Given the description of an element on the screen output the (x, y) to click on. 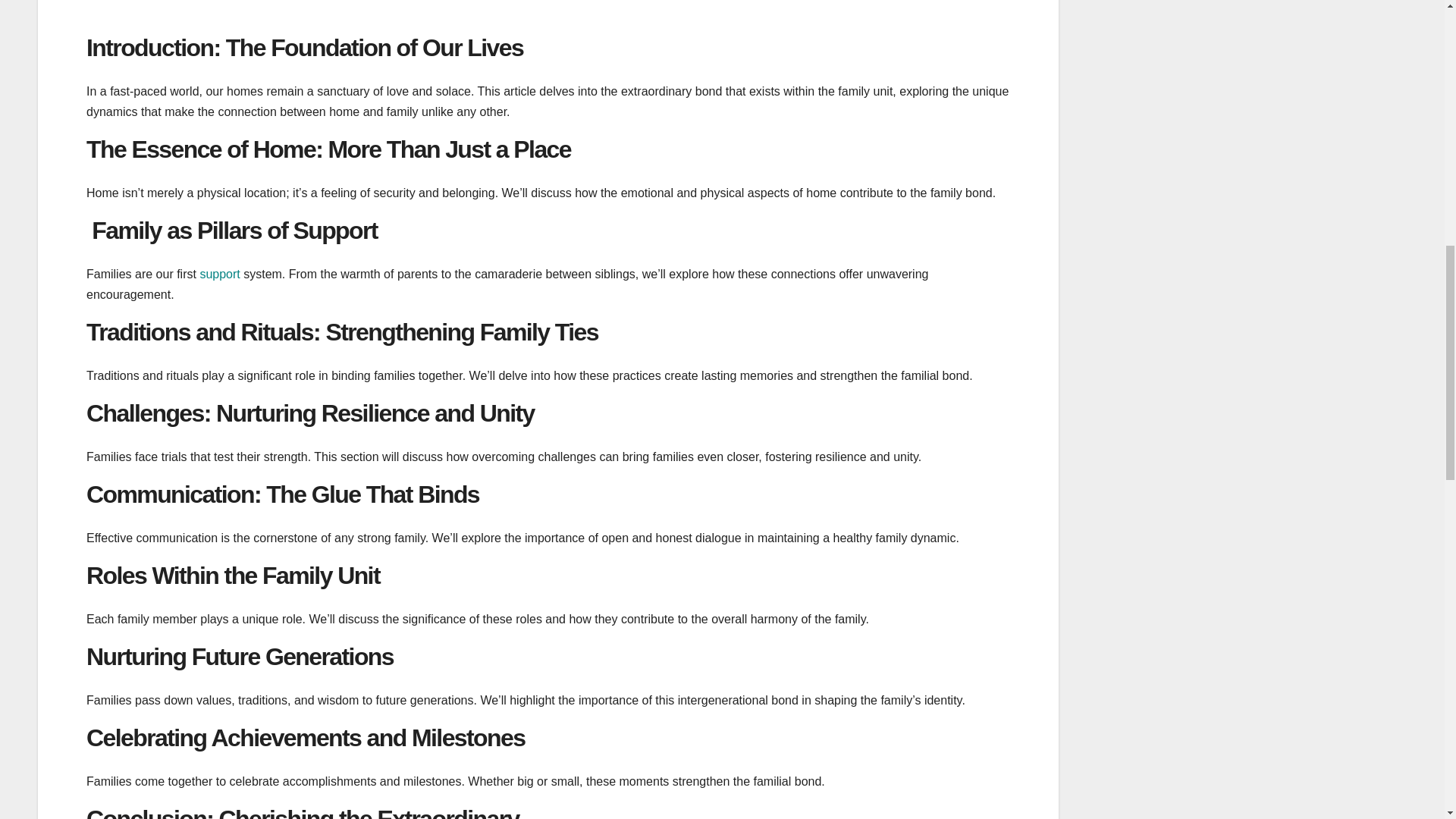
support (219, 273)
